Given the description of an element on the screen output the (x, y) to click on. 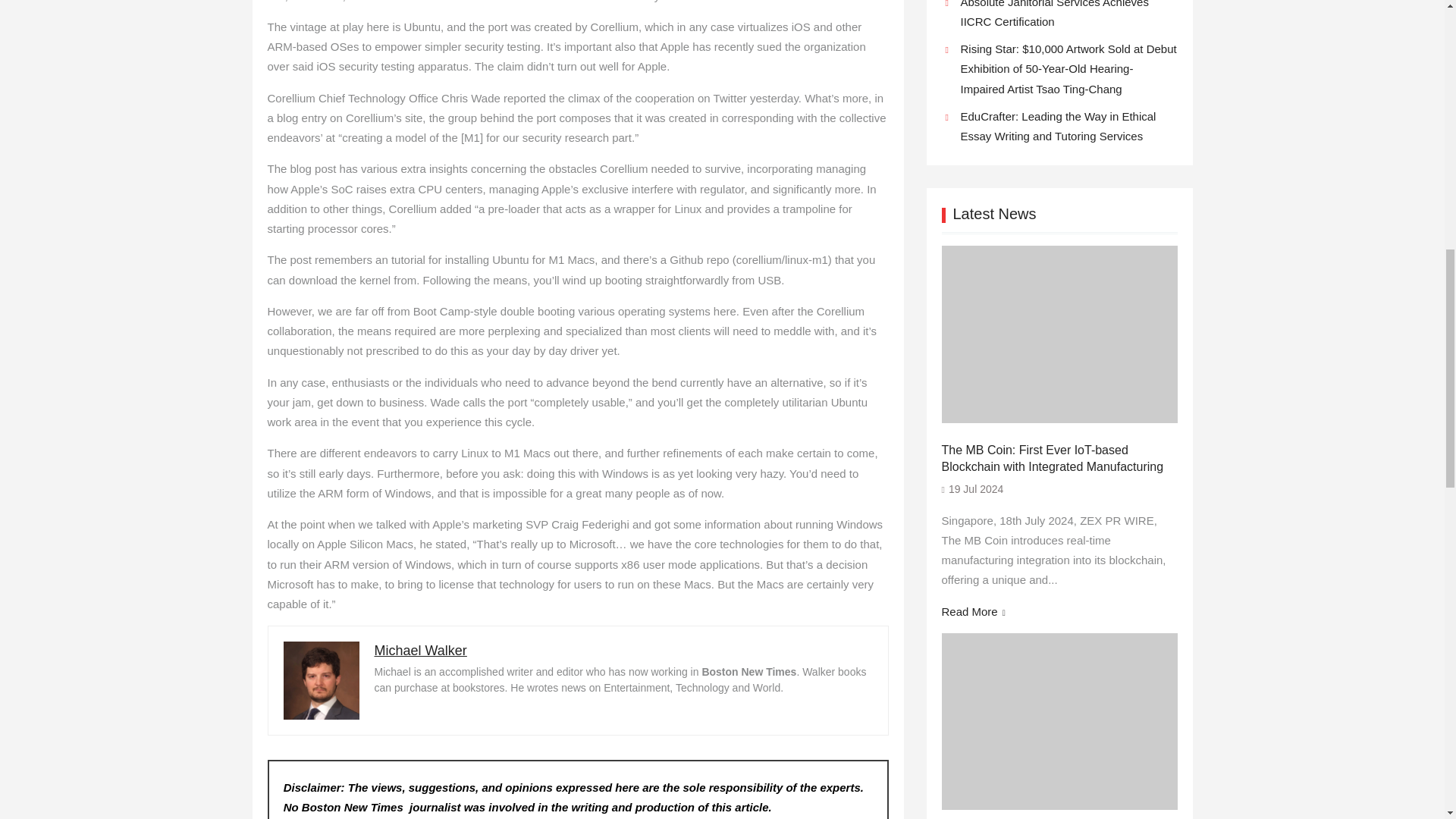
Michael Walker (420, 650)
